Given the description of an element on the screen output the (x, y) to click on. 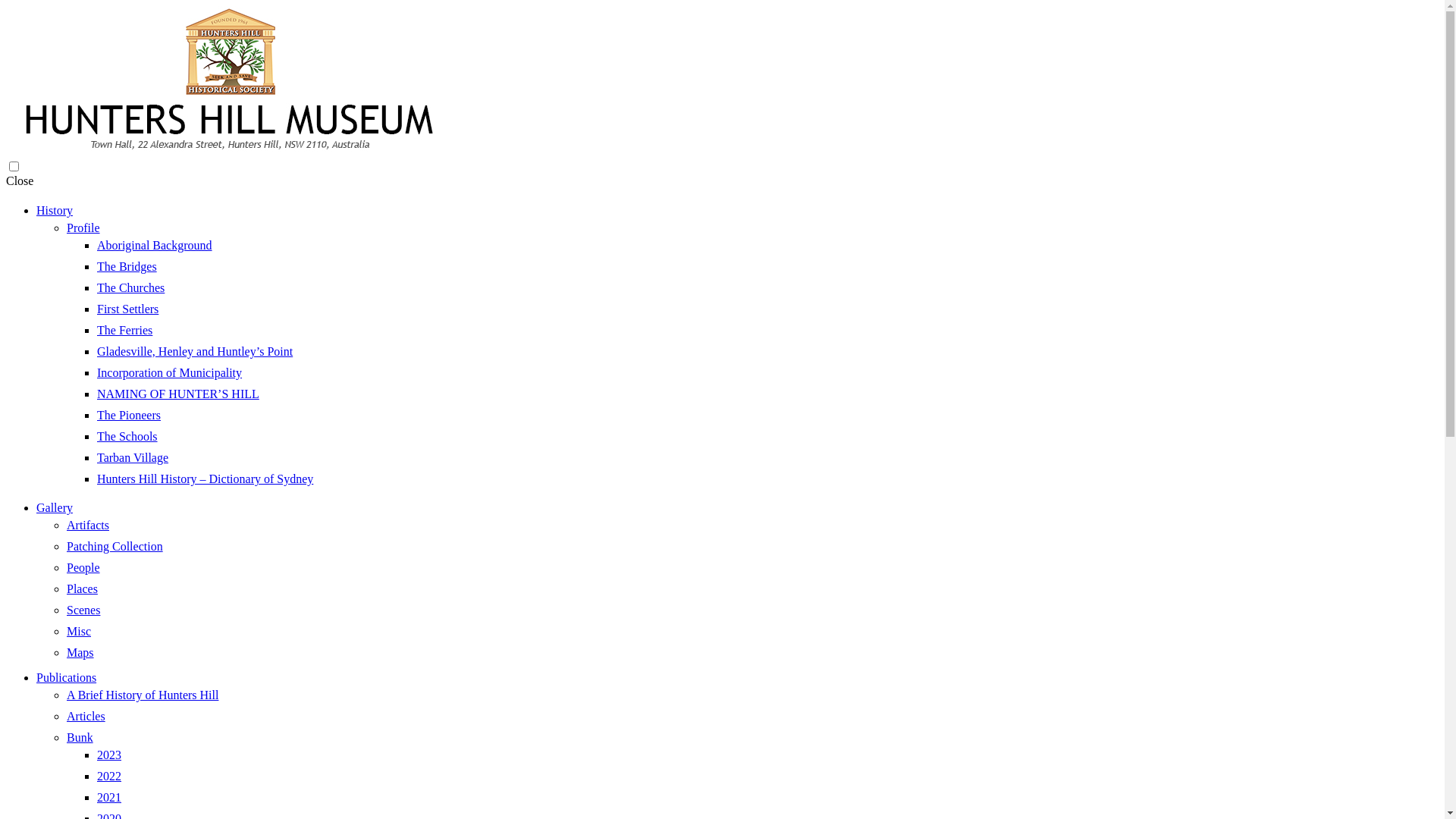
Incorporation of Municipality Element type: text (169, 372)
Close Element type: text (19, 180)
Publications Element type: text (66, 677)
First Settlers Element type: text (127, 308)
2022 Element type: text (109, 775)
Gallery Element type: text (54, 507)
Scenes Element type: text (83, 609)
2023 Element type: text (109, 754)
Articles Element type: text (85, 715)
Places Element type: text (81, 588)
Artifacts Element type: text (87, 524)
Aboriginal Background Element type: text (154, 244)
Patching Collection Element type: text (114, 545)
People Element type: text (83, 567)
The Pioneers Element type: text (128, 414)
The Bridges Element type: text (126, 266)
The Churches Element type: text (130, 287)
Misc Element type: text (78, 630)
2021 Element type: text (109, 796)
Bunk Element type: text (79, 737)
Tarban Village Element type: text (132, 457)
Maps Element type: text (80, 652)
The Schools Element type: text (127, 435)
The Ferries Element type: text (124, 329)
Skip to content Element type: text (32, 173)
A Brief History of Hunters Hill Element type: text (142, 694)
History Element type: text (54, 209)
Profile Element type: text (83, 227)
